Given the description of an element on the screen output the (x, y) to click on. 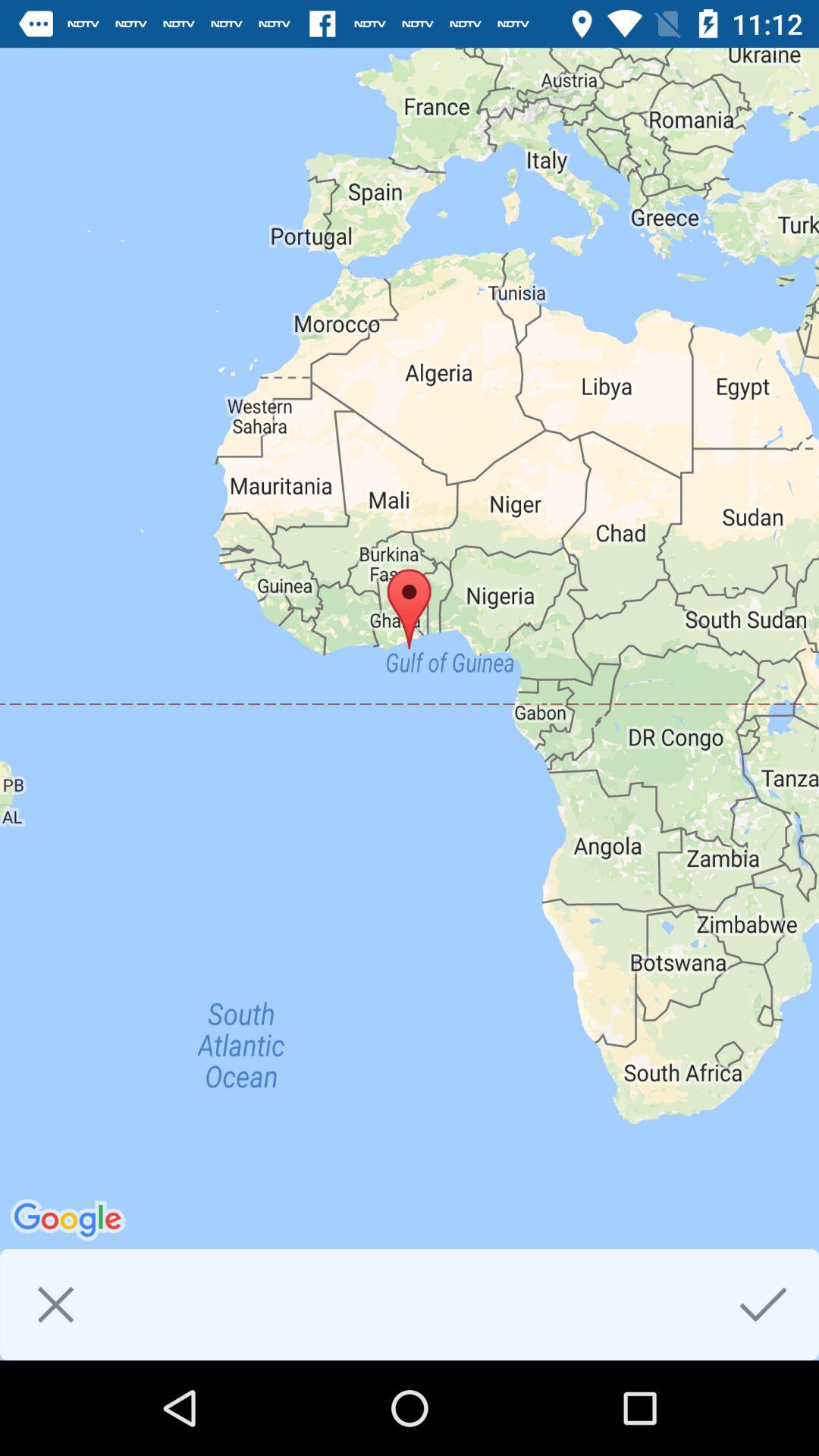
turn off the item at the center (409, 703)
